Given the description of an element on the screen output the (x, y) to click on. 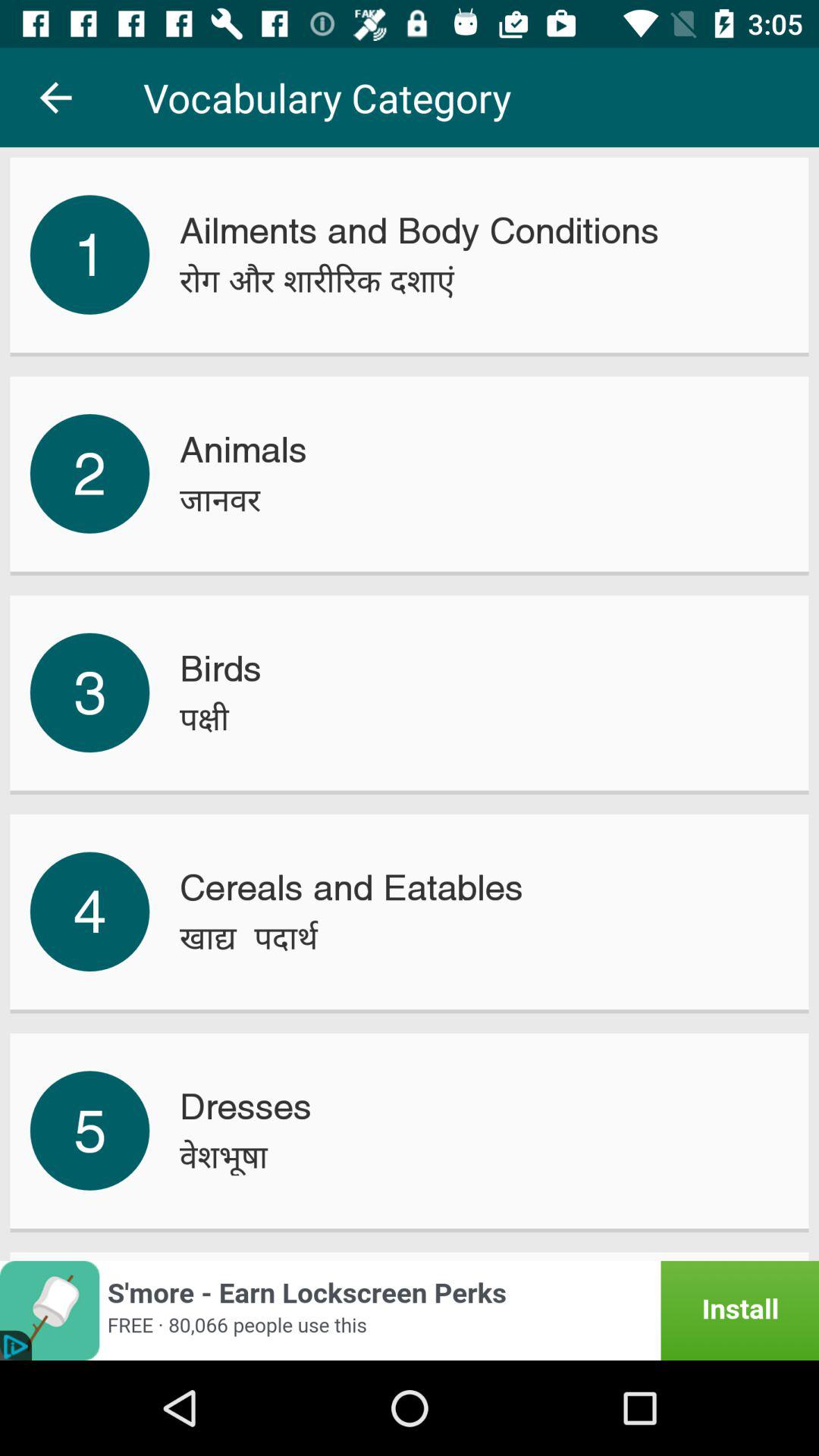
click for installing the app (409, 1310)
